Given the description of an element on the screen output the (x, y) to click on. 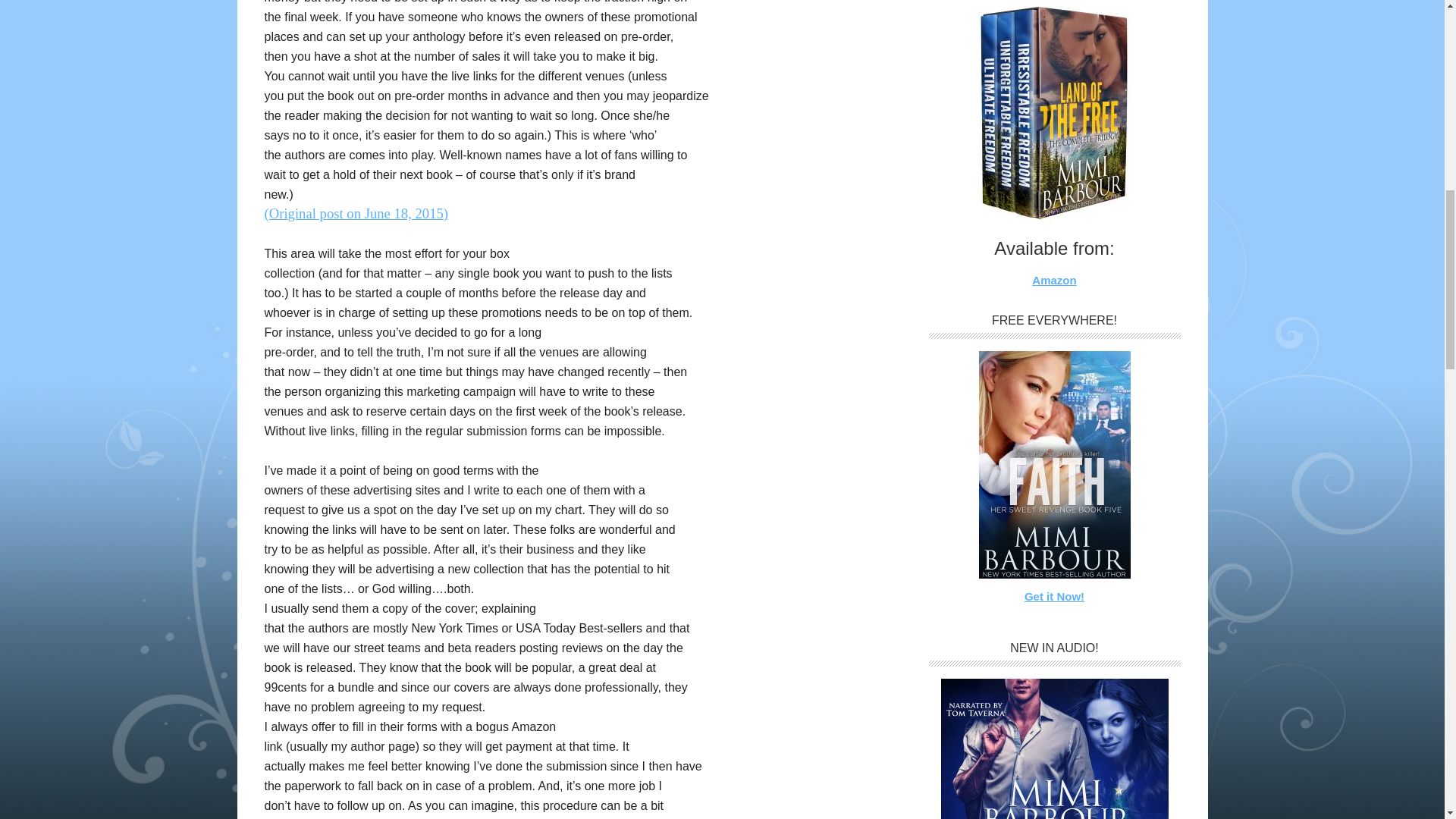
New release! (1053, 113)
Free Everywhere!  (1053, 464)
Amazon (1053, 748)
